Given the description of an element on the screen output the (x, y) to click on. 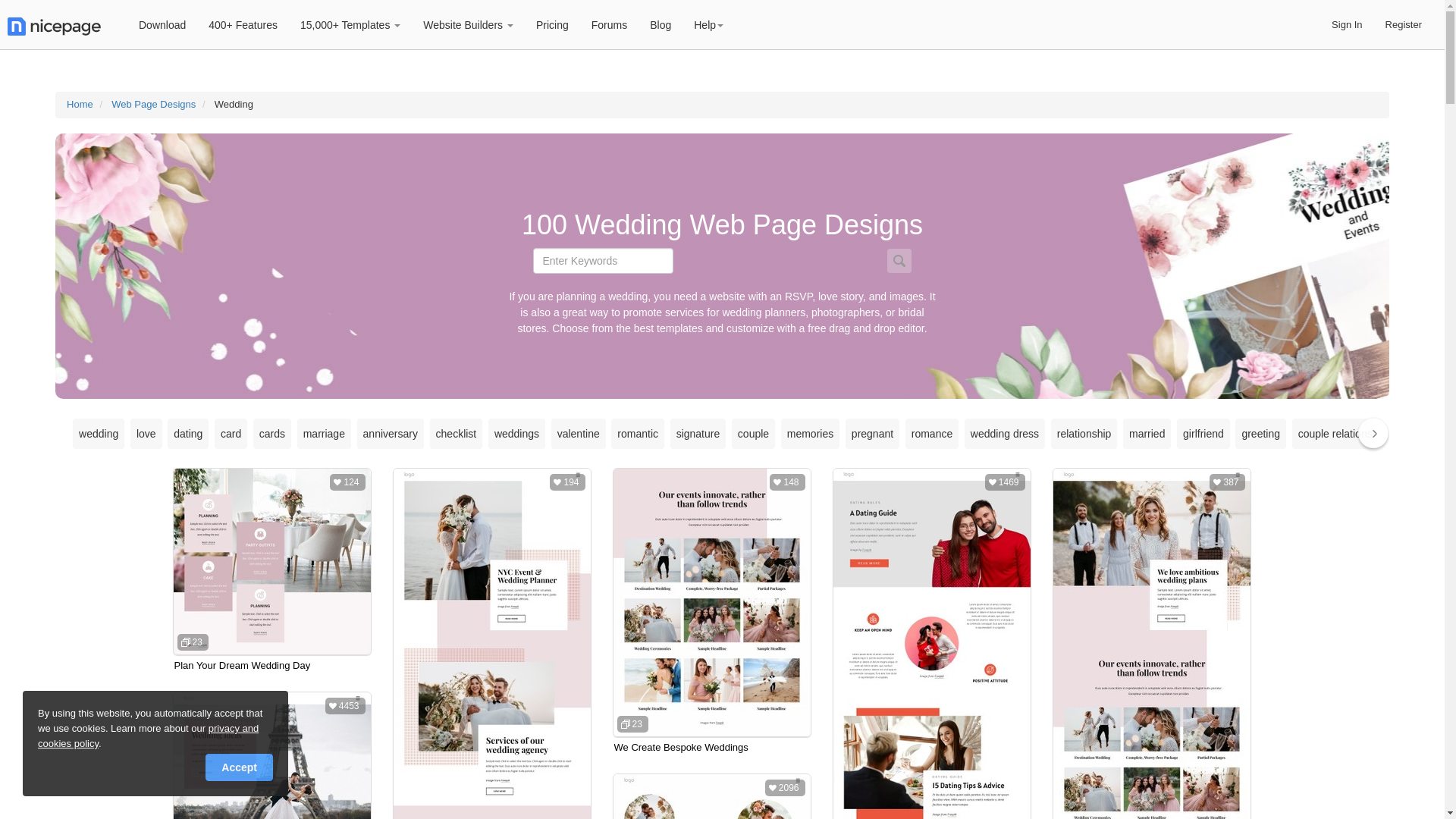
Card Web Page Designs (230, 433)
romantic (637, 433)
Pricing (551, 24)
checklist (456, 433)
Pregnant Web Page Designs (872, 433)
wedding (98, 433)
Valentine Web Page Designs (578, 433)
love (146, 433)
Checklist Web Page Designs (456, 433)
cards (271, 433)
Romance Web Page Designs (931, 433)
Relationship Web Page Designs (1084, 433)
card (230, 433)
marriage (323, 433)
Marriage Web Page Designs (323, 433)
